Given the description of an element on the screen output the (x, y) to click on. 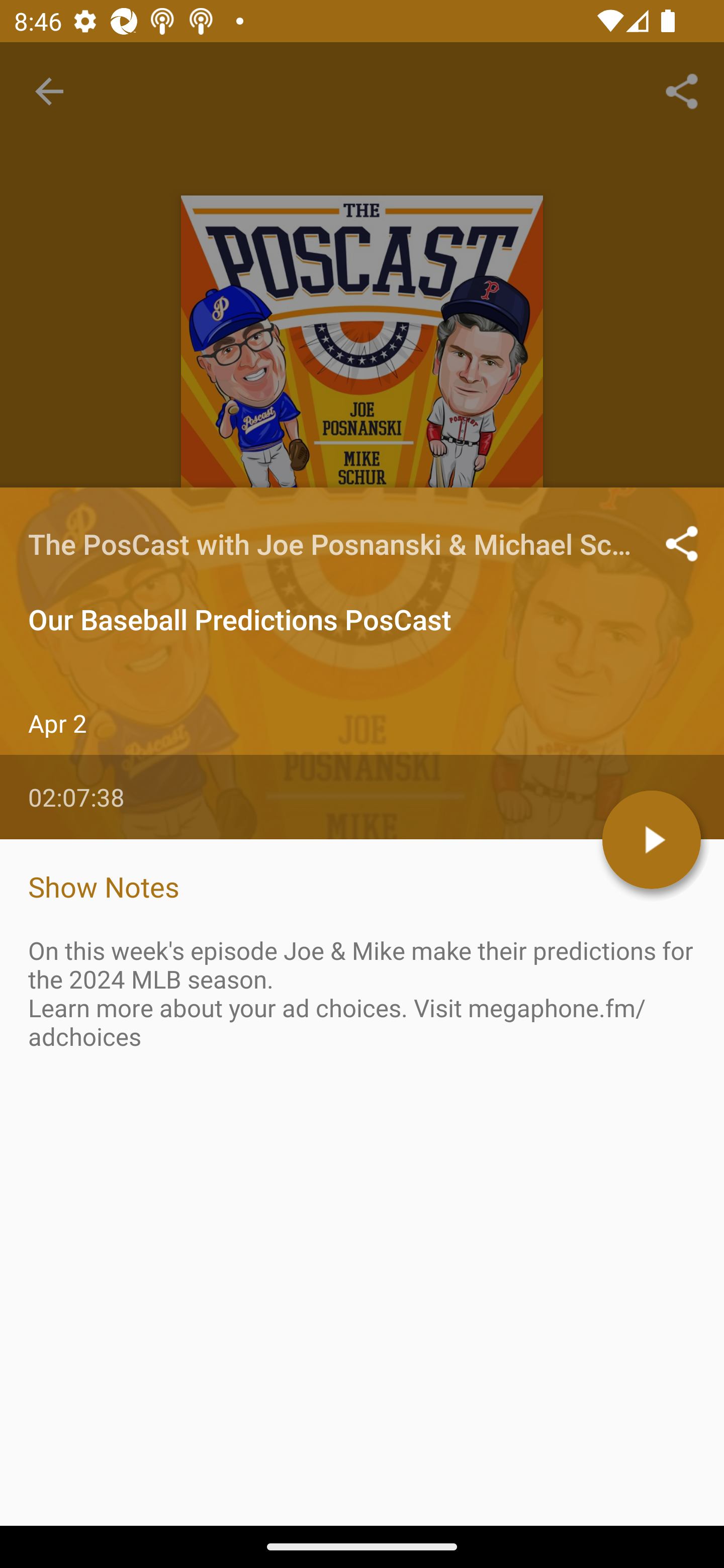
Navigate up (49, 91)
Share... (681, 90)
Apr 2 Our Baseball Predictions PosCast (362, 867)
Mar 20 It's (Almost) Baseball Season! (362, 985)
